Given the description of an element on the screen output the (x, y) to click on. 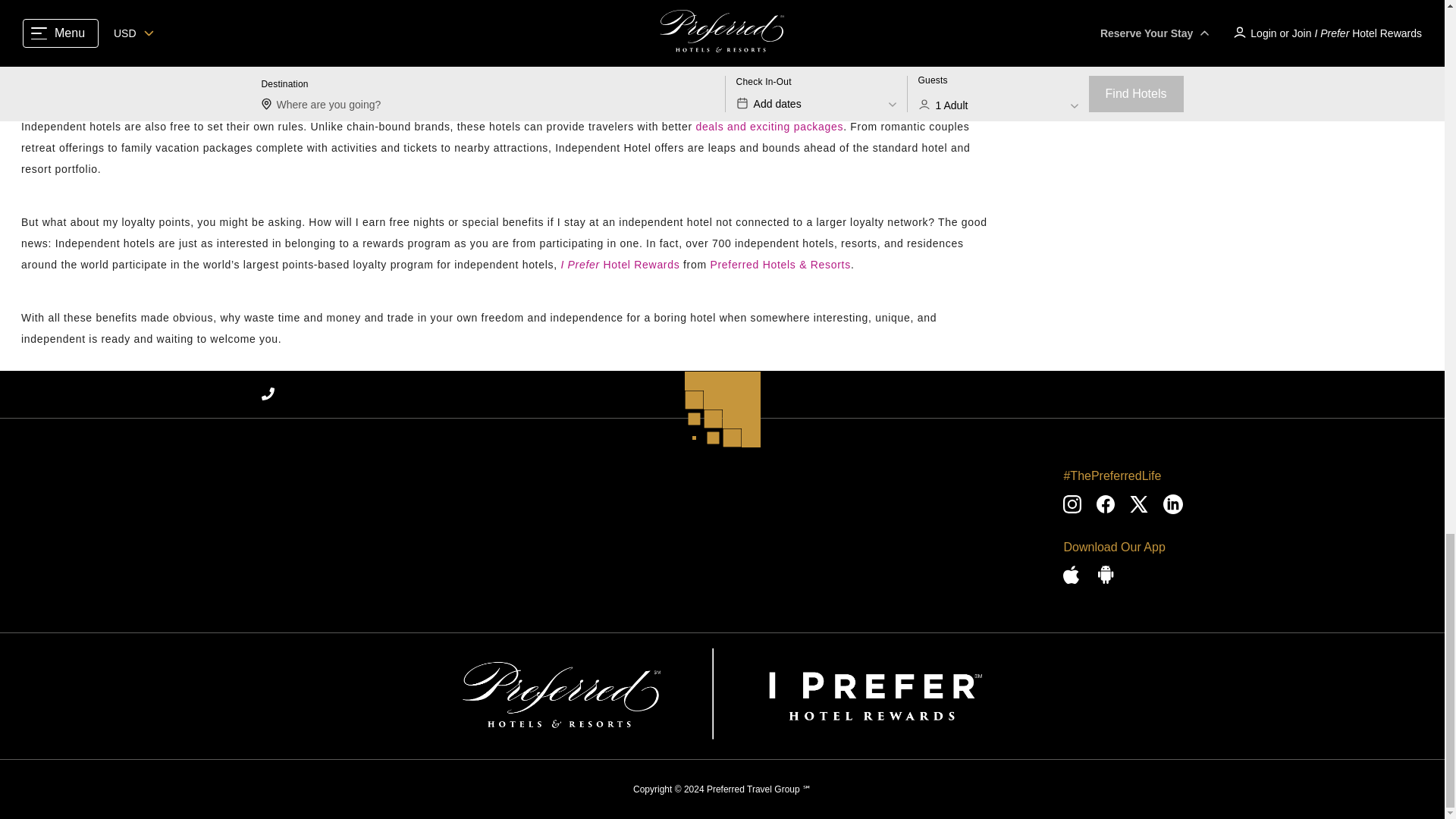
deals and exciting packages (769, 126)
not available elsewhere (758, 51)
I Prefer Hotel Rewards (619, 264)
